Given the description of an element on the screen output the (x, y) to click on. 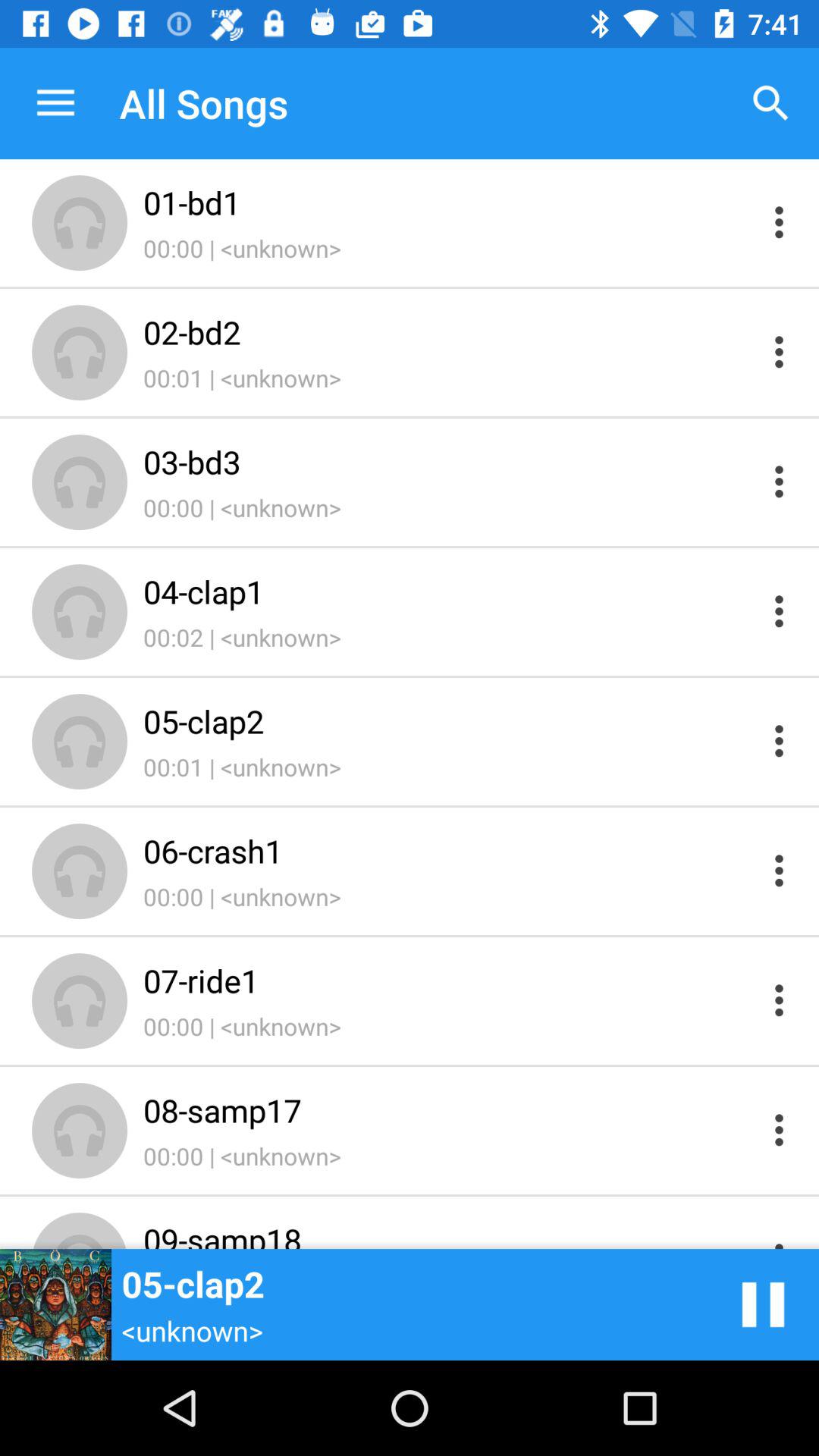
see information on file (779, 870)
